Given the description of an element on the screen output the (x, y) to click on. 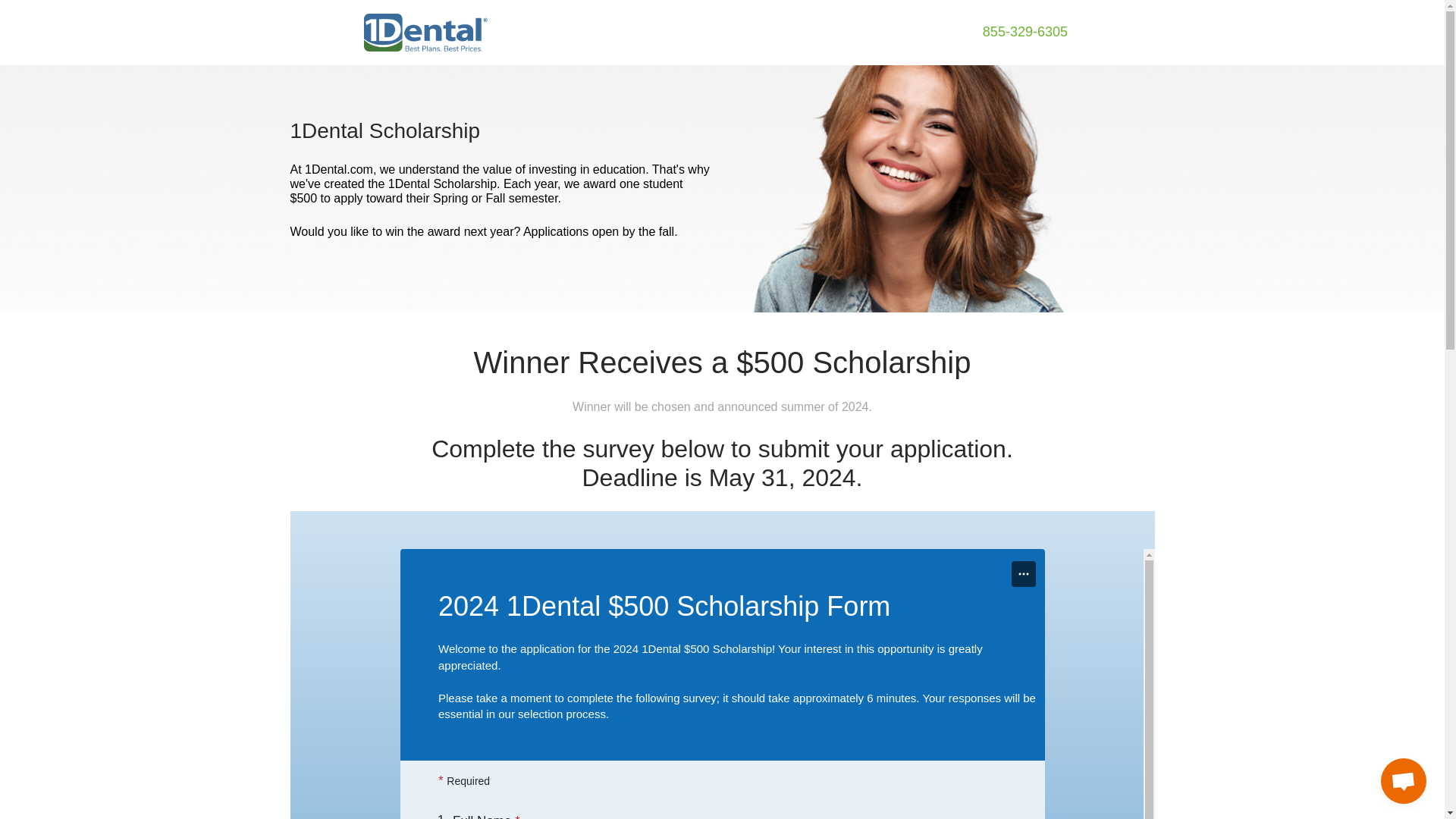
 855-329-6305  Element type: text (1025, 31)
